Given the description of an element on the screen output the (x, y) to click on. 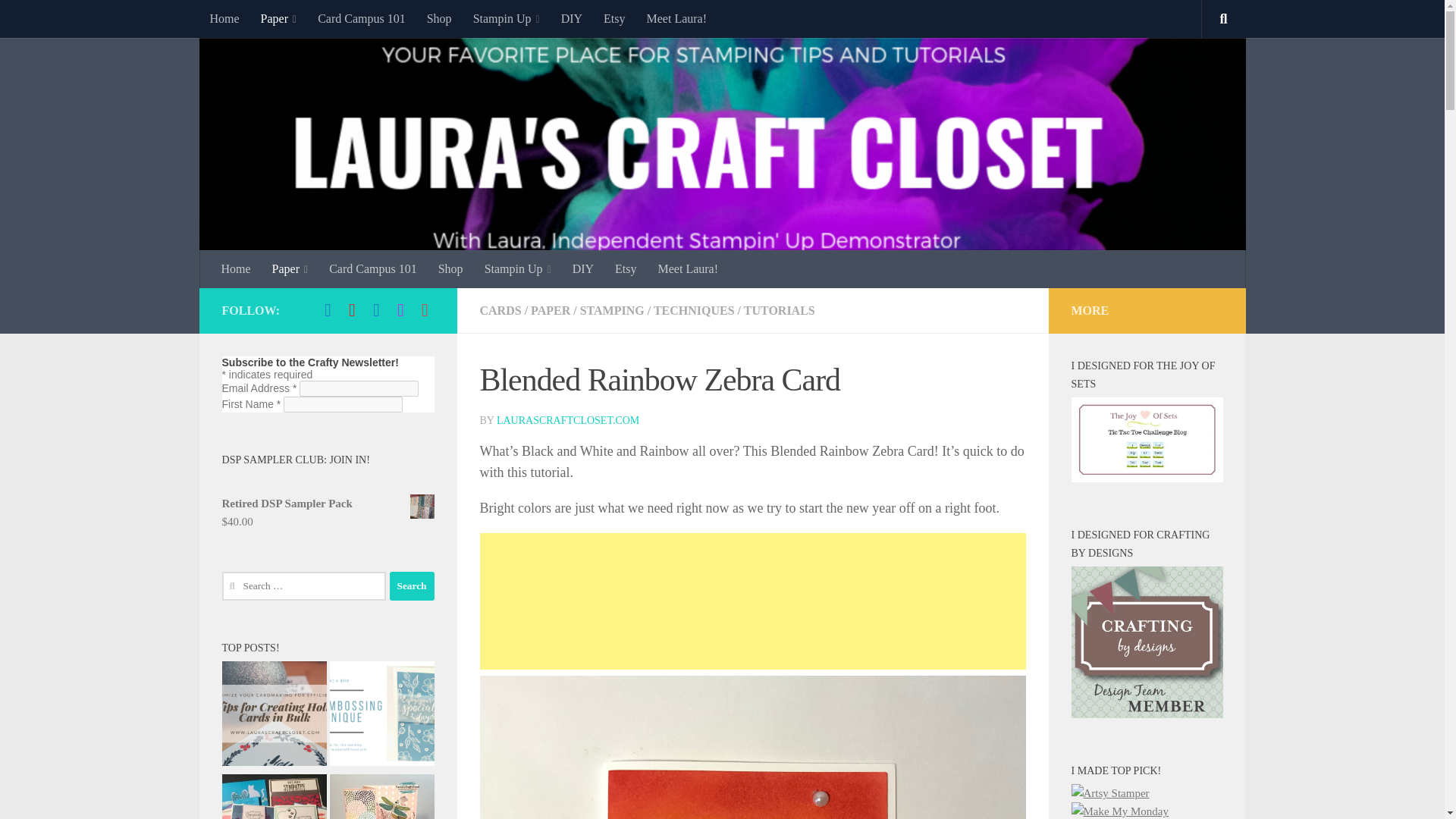
DIY (571, 18)
Stampin Up (506, 18)
Home (236, 269)
Paper (290, 269)
Paper (278, 18)
Etsy (613, 18)
Advertisement (752, 601)
Card Campus 101 (361, 18)
Search (411, 585)
Shop (439, 18)
Skip to content (59, 20)
Meet Laura! (676, 18)
Search (411, 585)
Home (223, 18)
Posts by laurascraftcloset.com (567, 419)
